Given the description of an element on the screen output the (x, y) to click on. 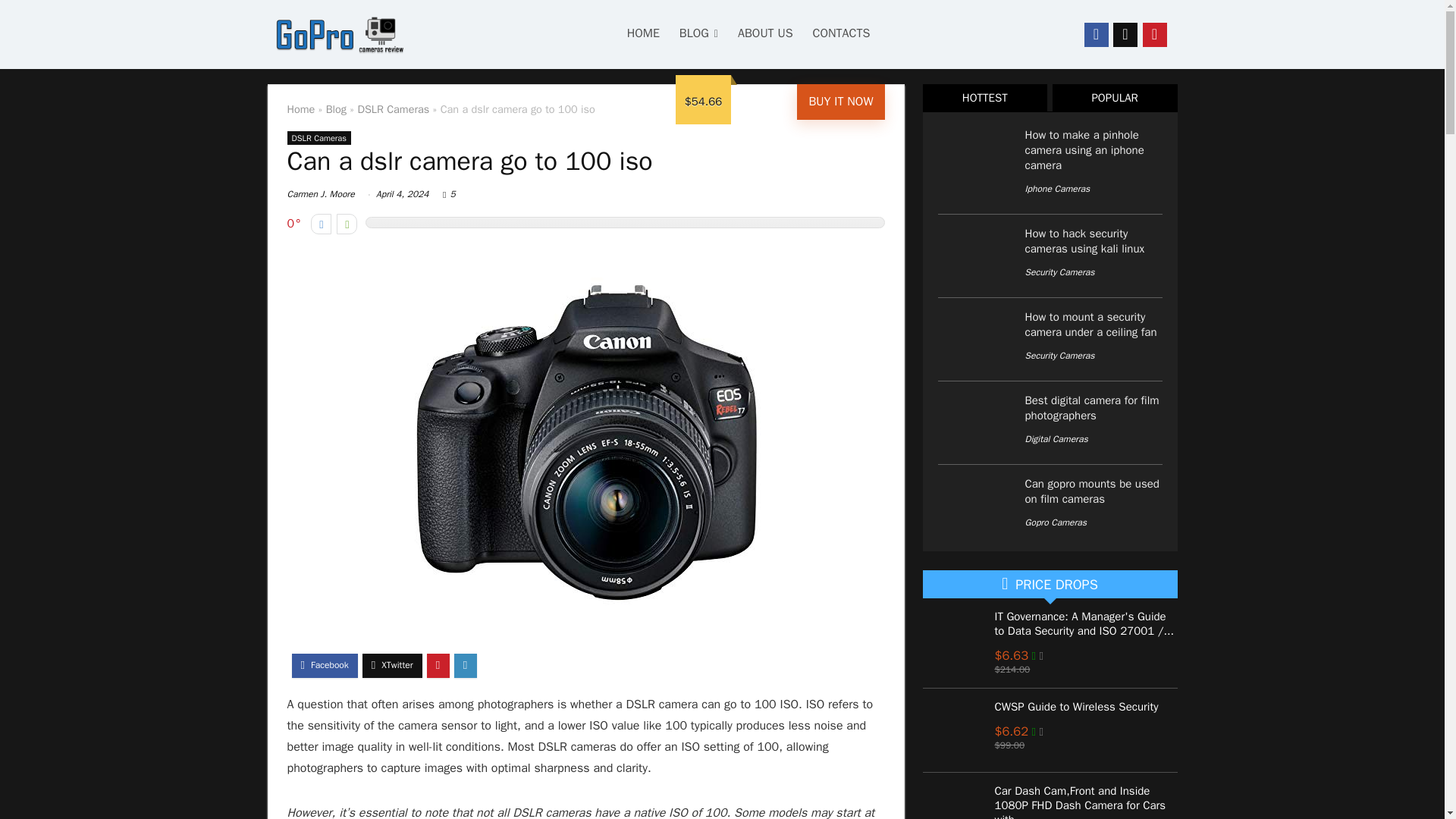
Blog (336, 109)
Vote down (321, 223)
BUY IT NOW (839, 101)
DSLR Cameras (392, 109)
Vote up (346, 223)
Carmen J. Moore (319, 193)
BLOG (698, 34)
HOME (643, 34)
